Given the description of an element on the screen output the (x, y) to click on. 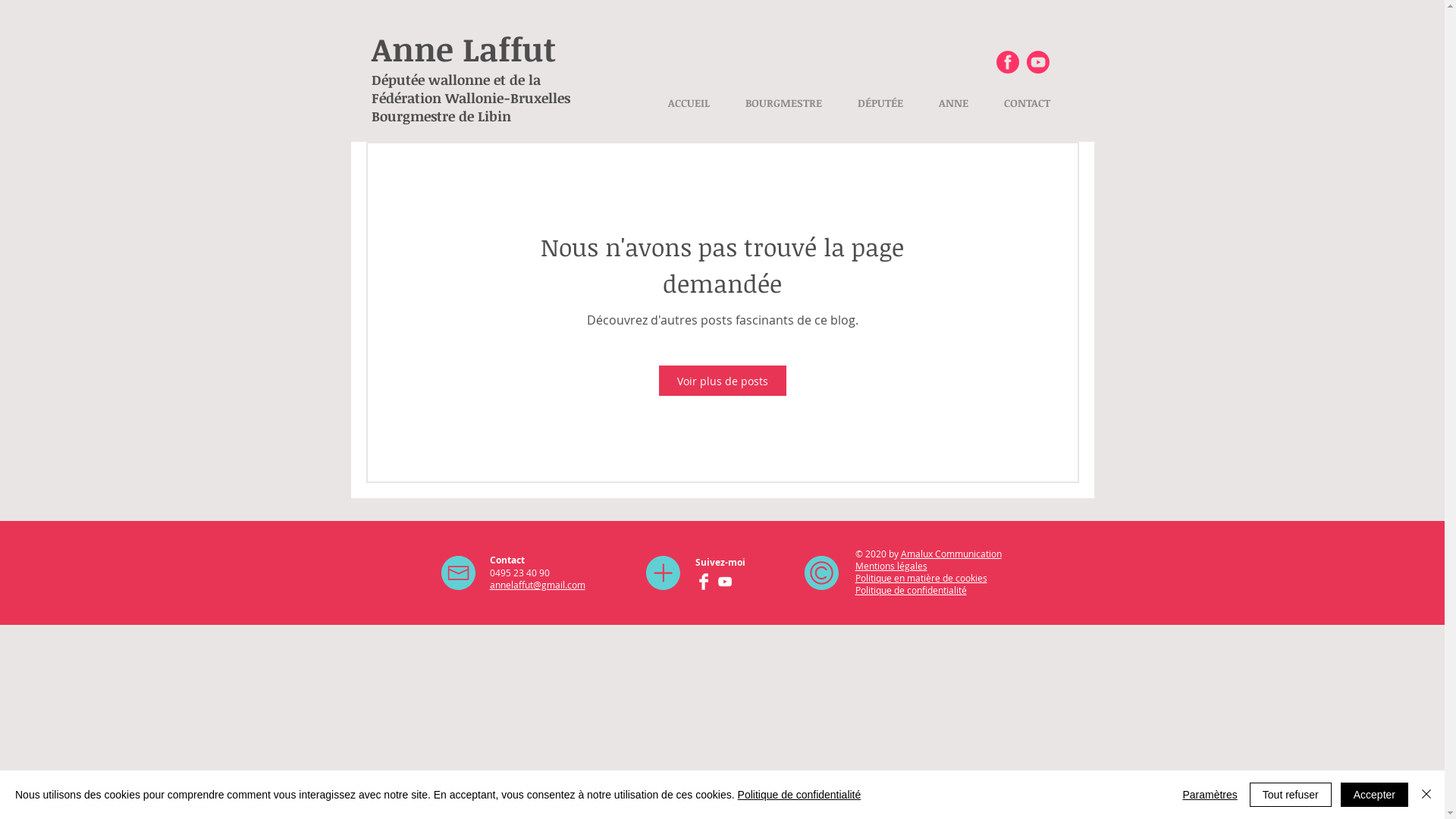
Bourgmestre de Libin Element type: text (441, 115)
Amalux Communication Element type: text (950, 553)
BOURGMESTRE Element type: text (784, 102)
Anne Laffut Element type: text (463, 48)
Accepter Element type: text (1374, 794)
annelaffut@gmail.com Element type: text (537, 584)
Tout refuser Element type: text (1290, 794)
ACCUEIL Element type: text (688, 102)
ANNE Element type: text (952, 102)
Voir plus de posts Element type: text (721, 380)
CONTACT Element type: text (1026, 102)
